Given the description of an element on the screen output the (x, y) to click on. 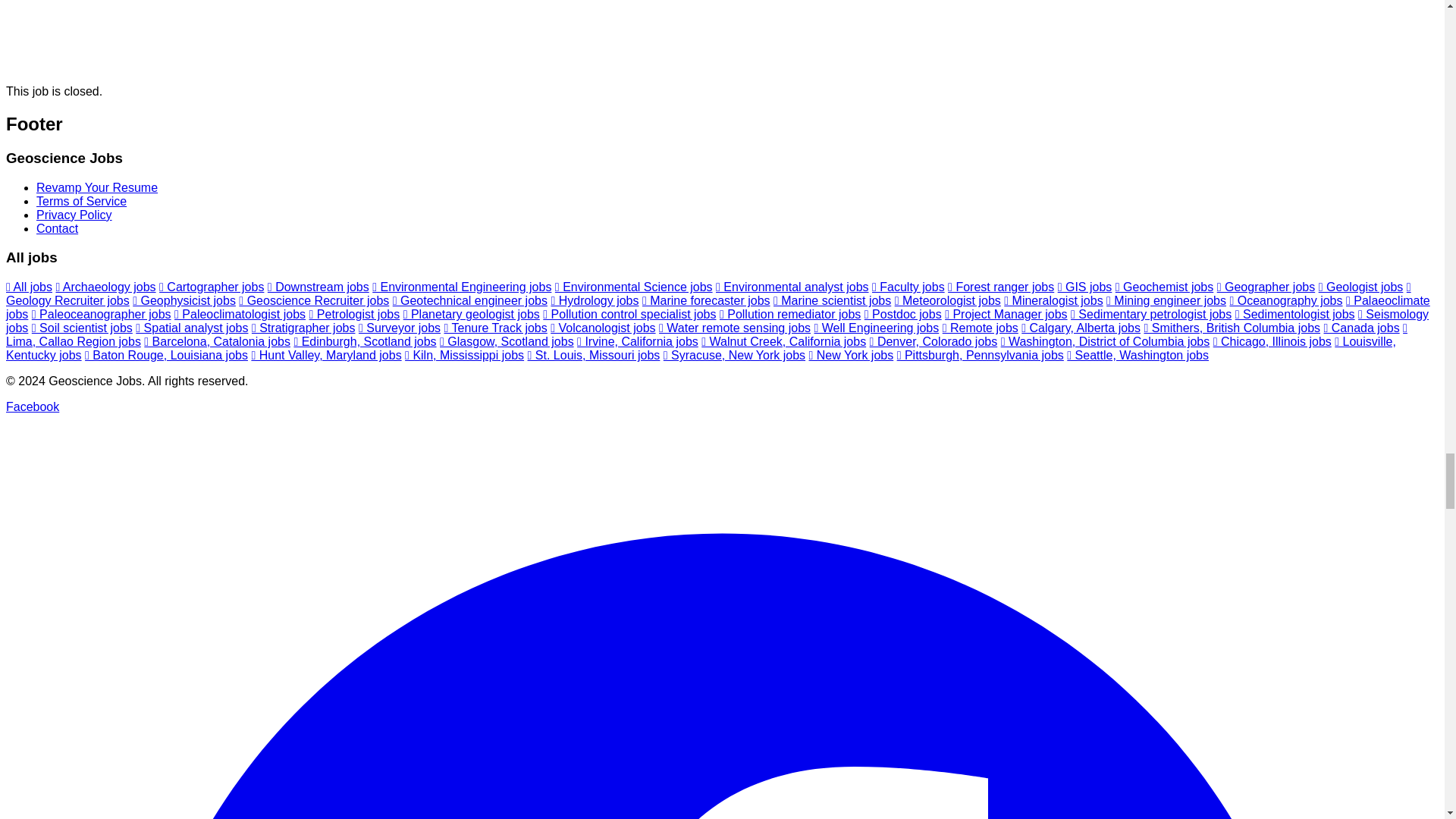
Revamp Your Resume (96, 187)
Terms of Service (81, 201)
Contact (57, 228)
Privacy Policy (74, 214)
